Given the description of an element on the screen output the (x, y) to click on. 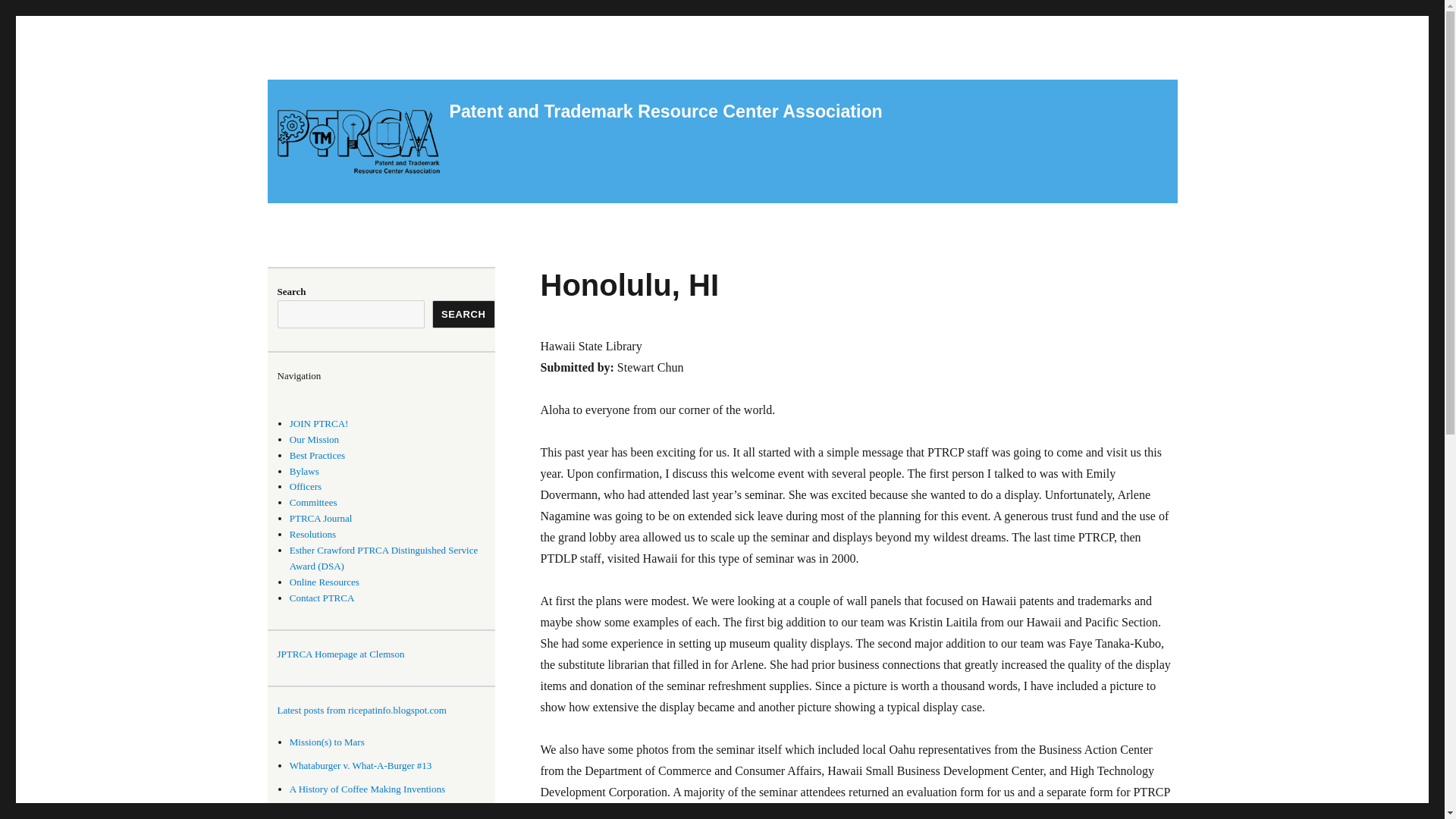
PTRCA Journal (320, 518)
JOIN PTRCA! (319, 423)
SEARCH (463, 314)
JPTRCA Homepage at Clemson (341, 654)
Contact PTRCA (322, 597)
Latest posts from ricepatinfo.blogspot.com (386, 710)
Our Mission (314, 439)
Committees (313, 501)
Online Resources (324, 582)
Resolutions (312, 533)
Best Practices (317, 455)
A History of Coffee Making Inventions (367, 788)
Bylaws (303, 471)
Patent and Trademark Resource Center Association (665, 111)
Officers (305, 486)
